Given the description of an element on the screen output the (x, y) to click on. 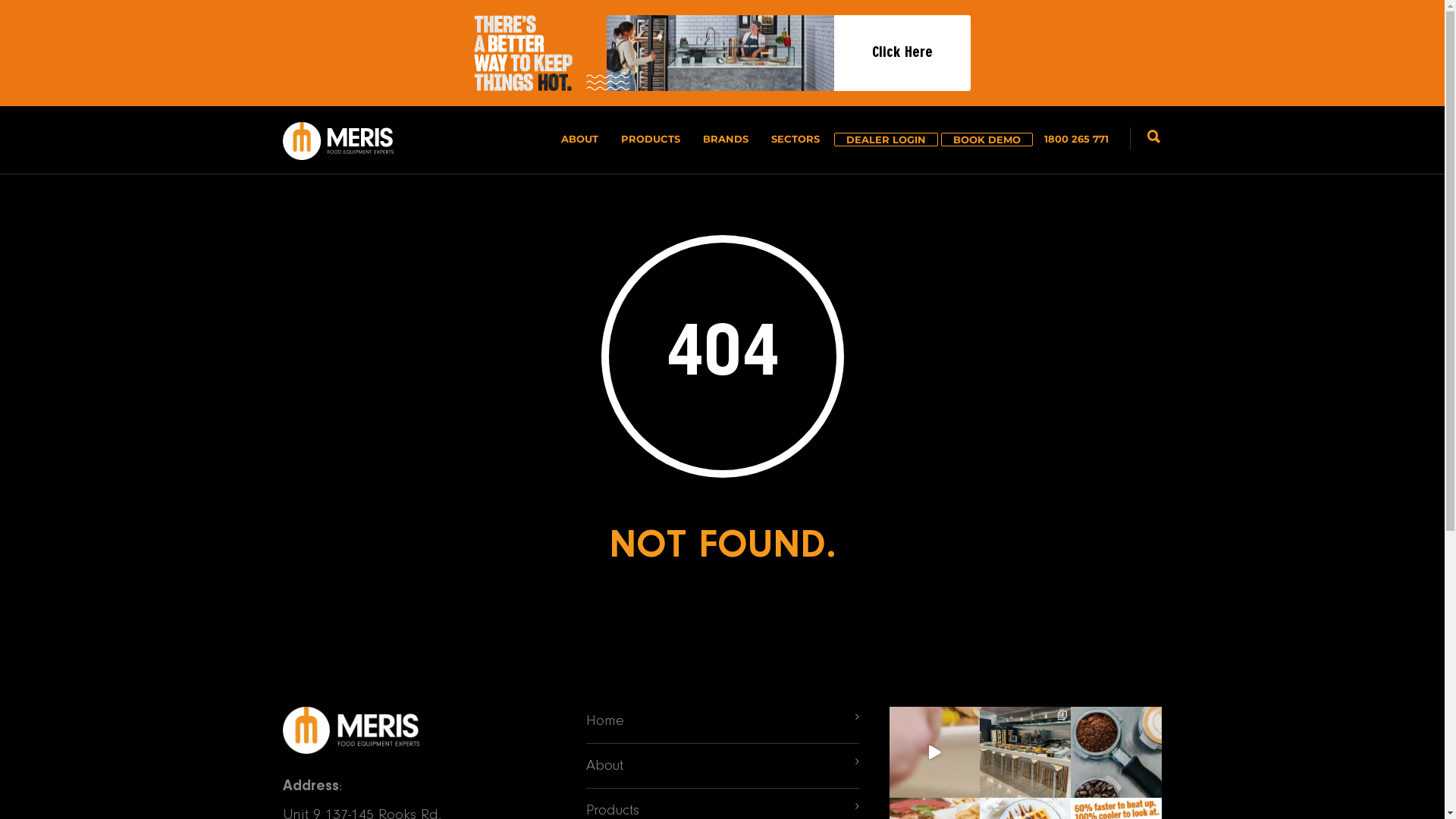
1800 265 771 Element type: text (1070, 138)
About Element type: text (717, 765)
DEALER LOGIN Element type: text (886, 139)
ABOUT Element type: text (578, 138)
BOOK DEMO Element type: text (986, 139)
PRODUCTS Element type: text (650, 138)
Click Here Element type: text (722, 53)
BRANDS Element type: text (725, 138)
Home Element type: text (717, 720)
SECTORS Element type: text (795, 138)
